Given the description of an element on the screen output the (x, y) to click on. 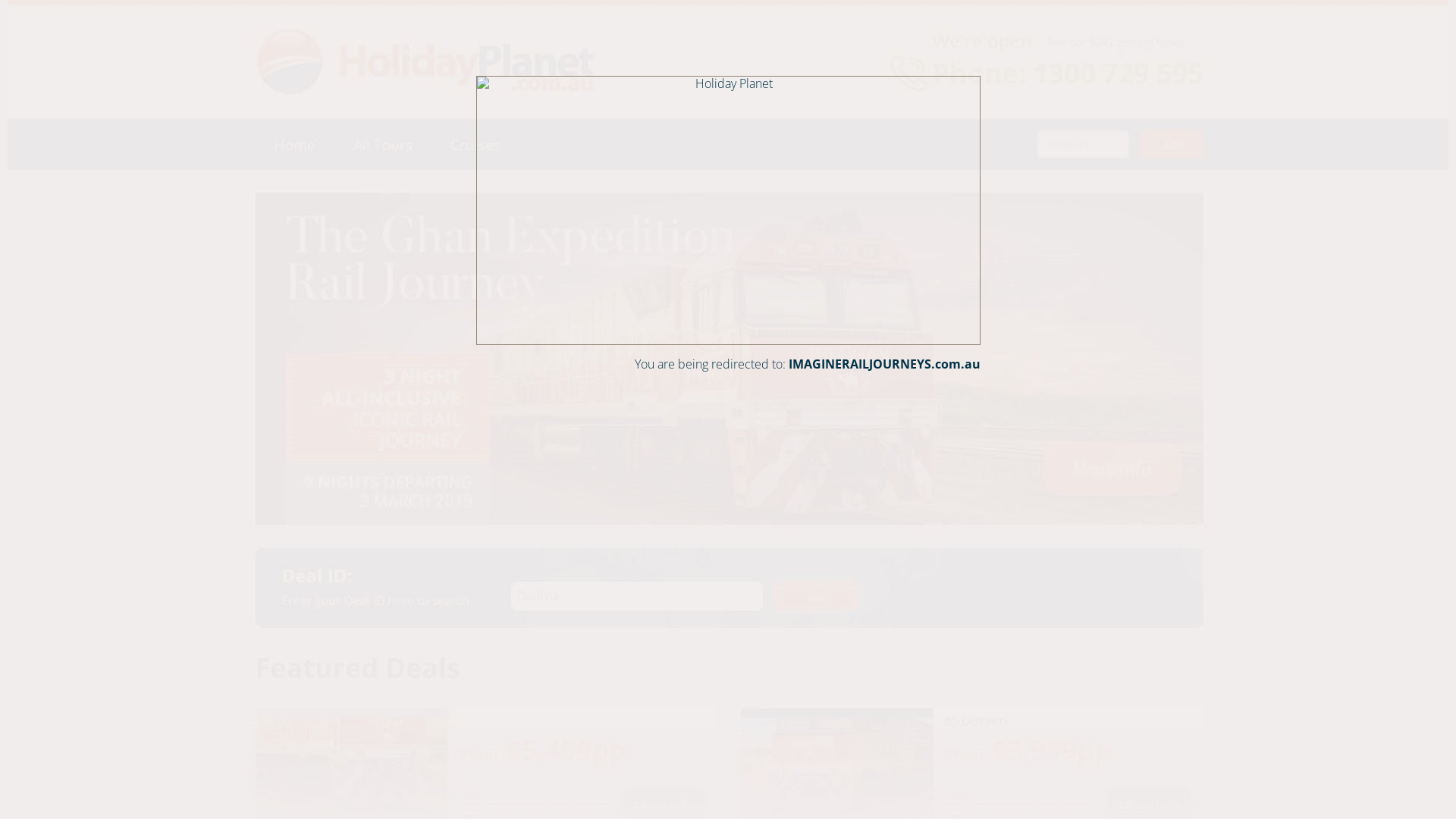
IMAGINERAILJOURNEYS.com.au Element type: text (884, 363)
